Given the description of an element on the screen output the (x, y) to click on. 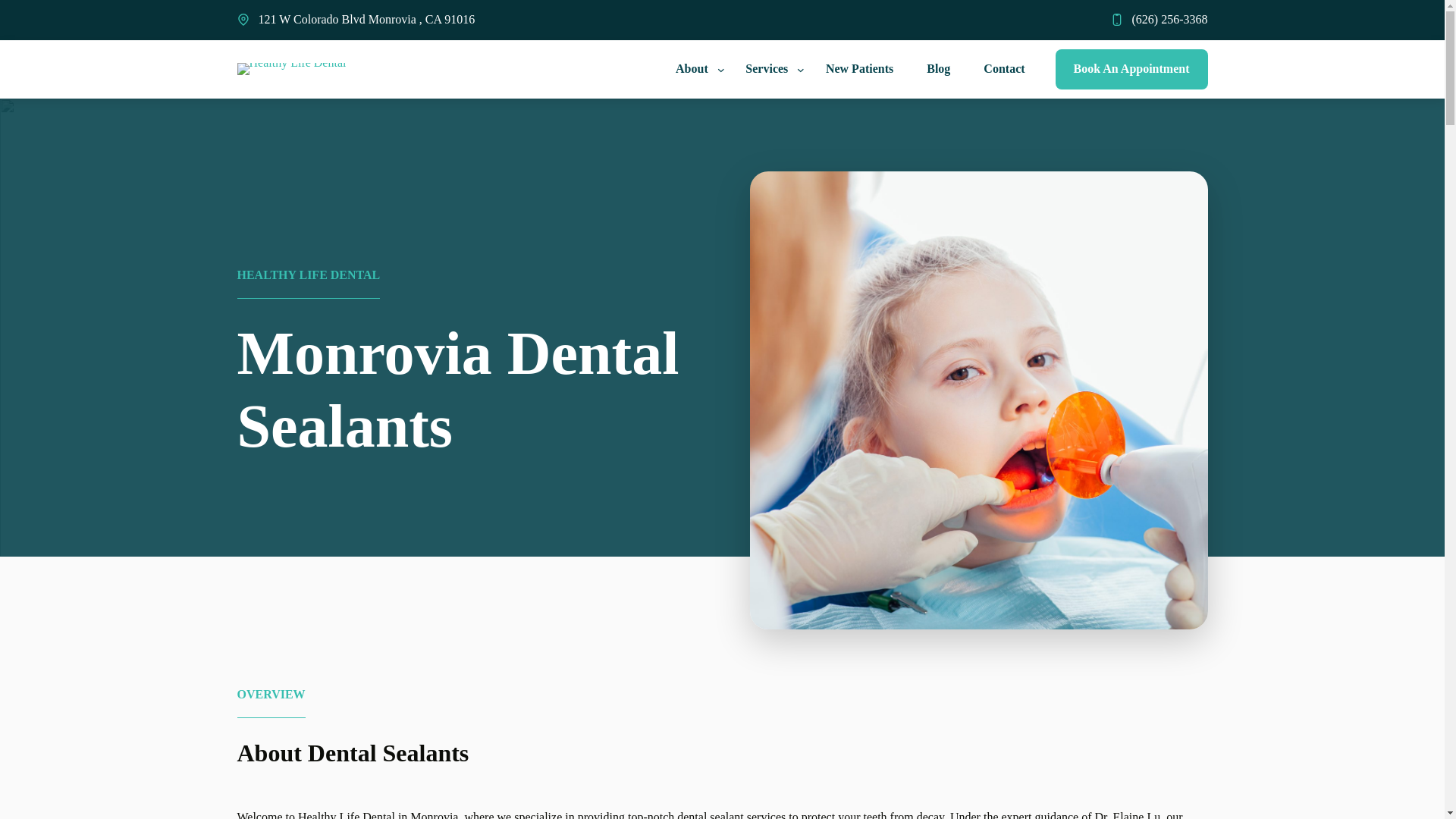
New Patients (859, 69)
About (688, 69)
Blog (938, 69)
121 W Colorado Blvd Monrovia , CA 91016 (365, 19)
Services (763, 69)
HLD-Logo-3inch (290, 69)
